Given the description of an element on the screen output the (x, y) to click on. 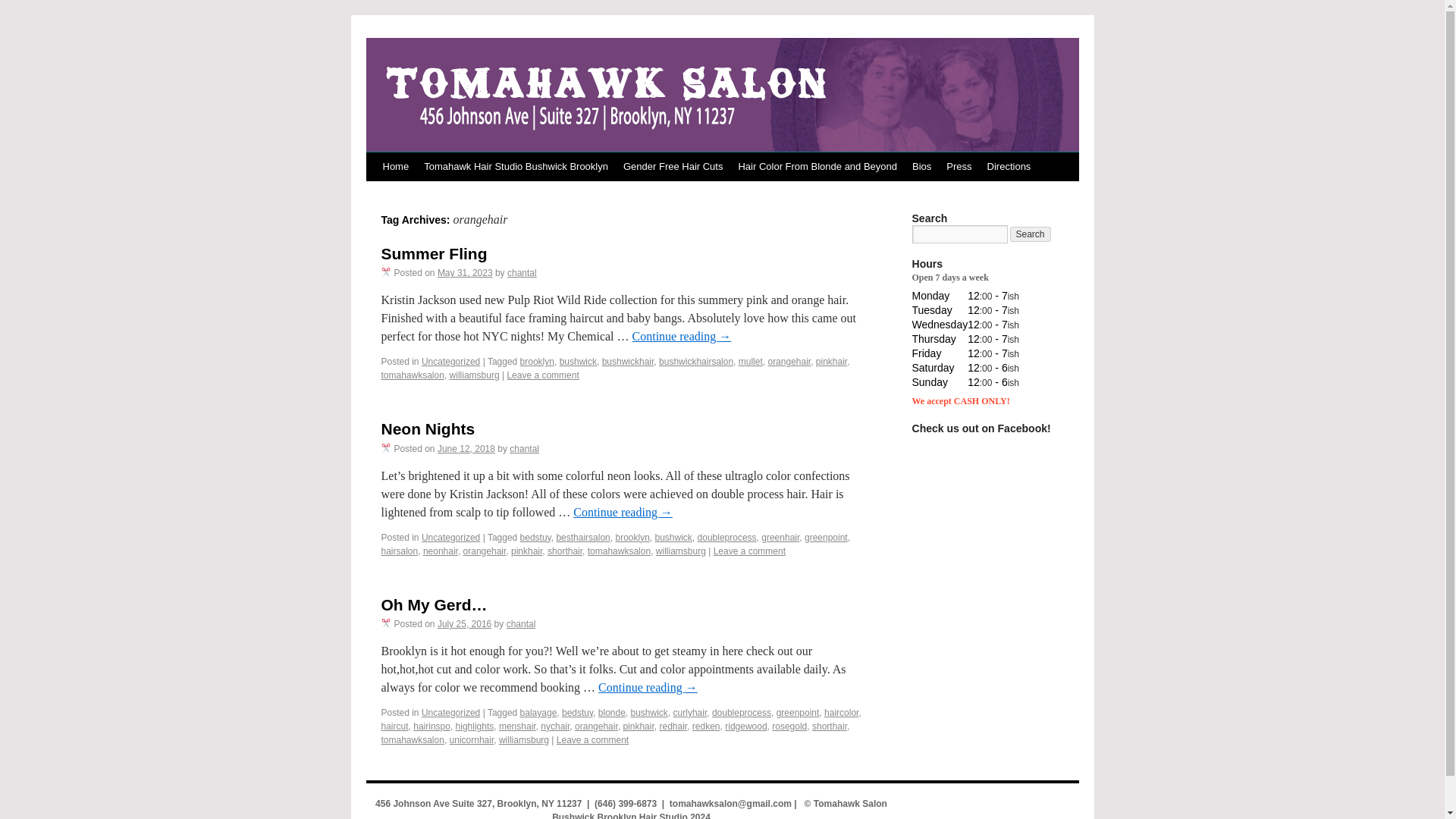
May 31, 2023 (465, 272)
View all posts by chantal (523, 448)
neonhair (440, 551)
Directions (1009, 166)
orangehair (484, 551)
chantal (523, 448)
Search (1030, 233)
williamsburg (474, 375)
Home (395, 166)
View all posts by chantal (521, 272)
Bios (921, 166)
bedstuy (535, 537)
bushwick (674, 537)
Uncategorized (451, 537)
bushwickhair (627, 361)
